Given the description of an element on the screen output the (x, y) to click on. 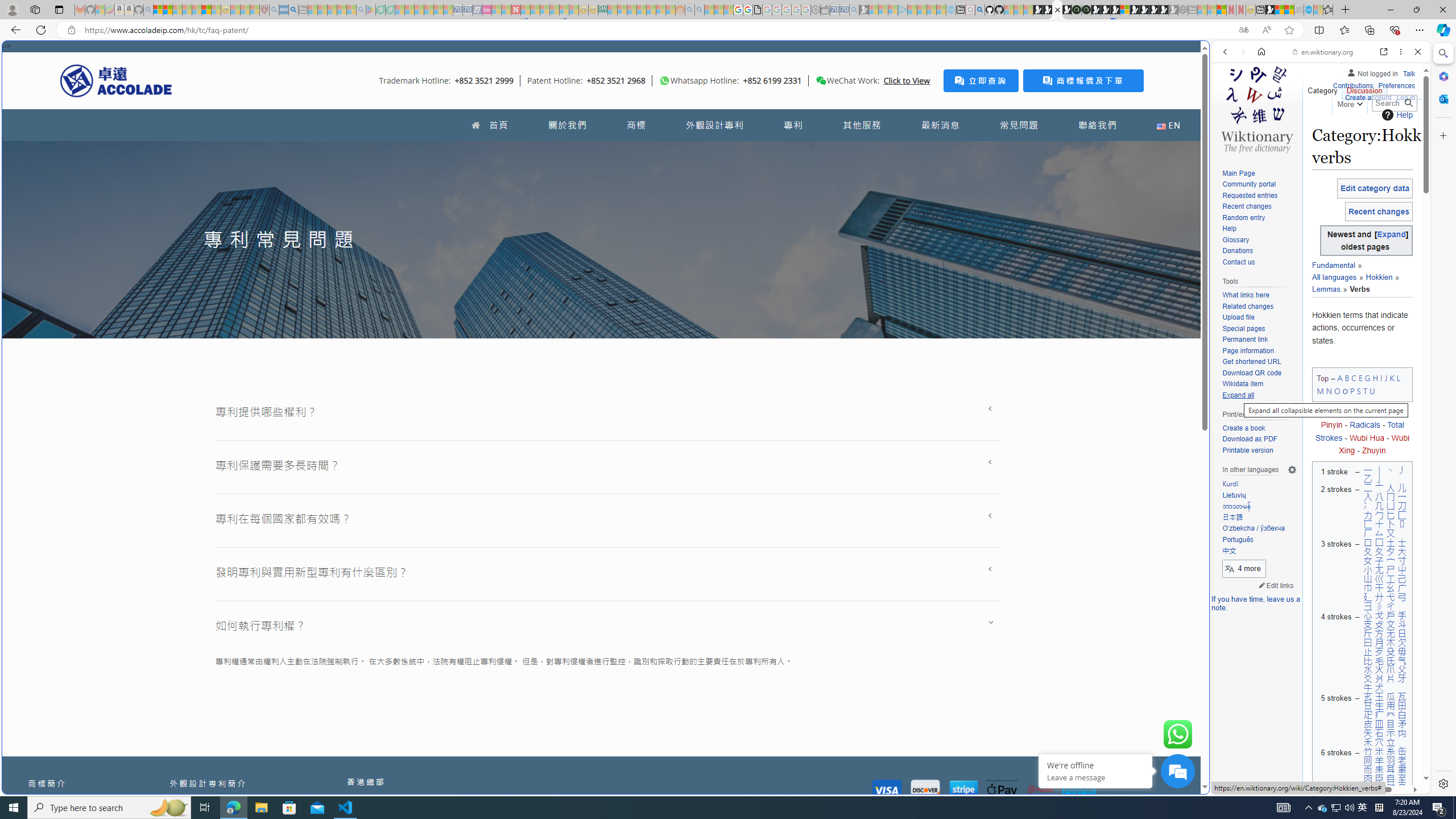
Future Focus Report 2024 (1085, 9)
Main Page (1238, 172)
Wikidata item (1242, 384)
Requested entries (1249, 194)
google - Search - Sleeping (360, 9)
